Given the description of an element on the screen output the (x, y) to click on. 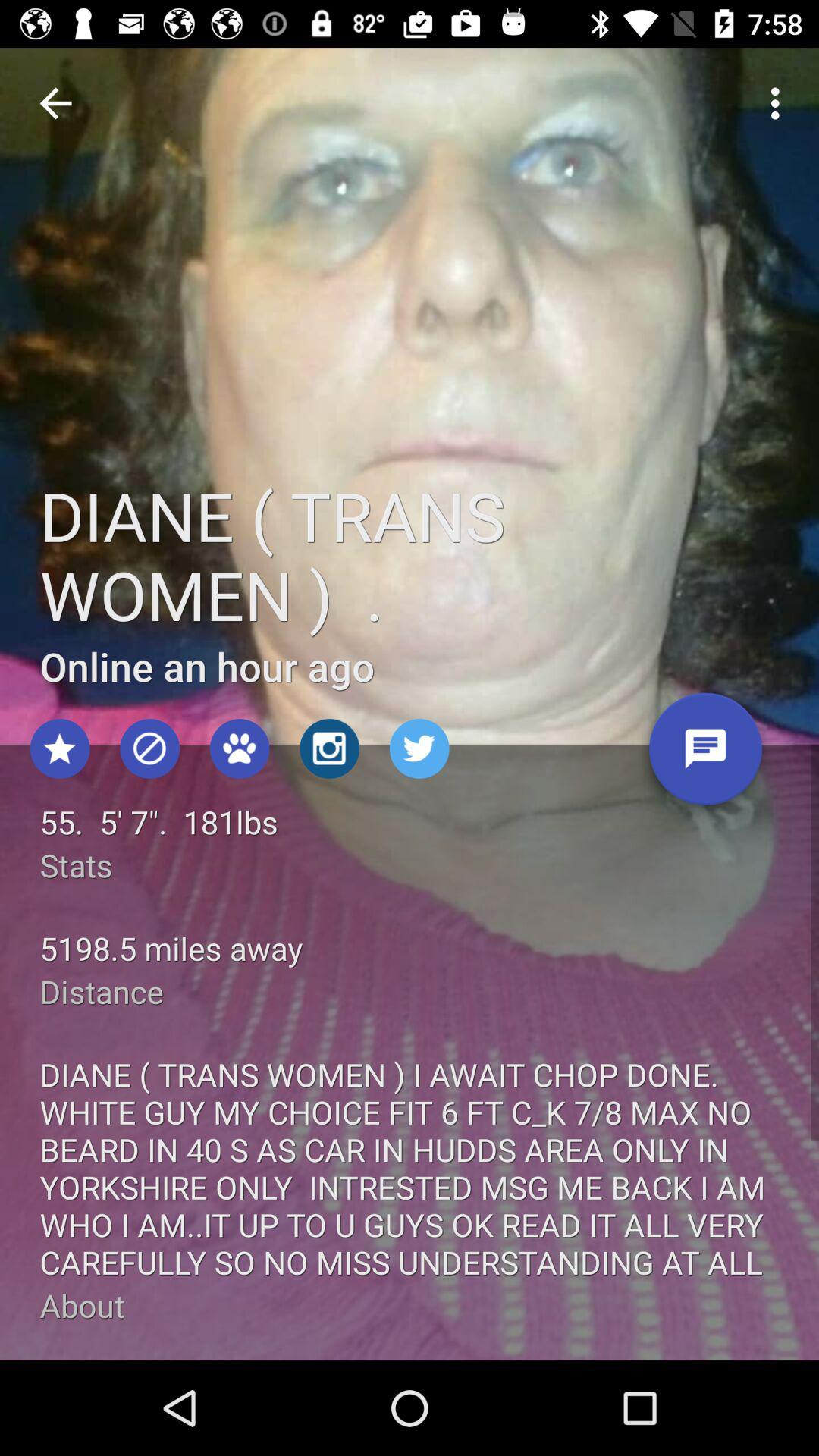
tap to message (705, 754)
